Given the description of an element on the screen output the (x, y) to click on. 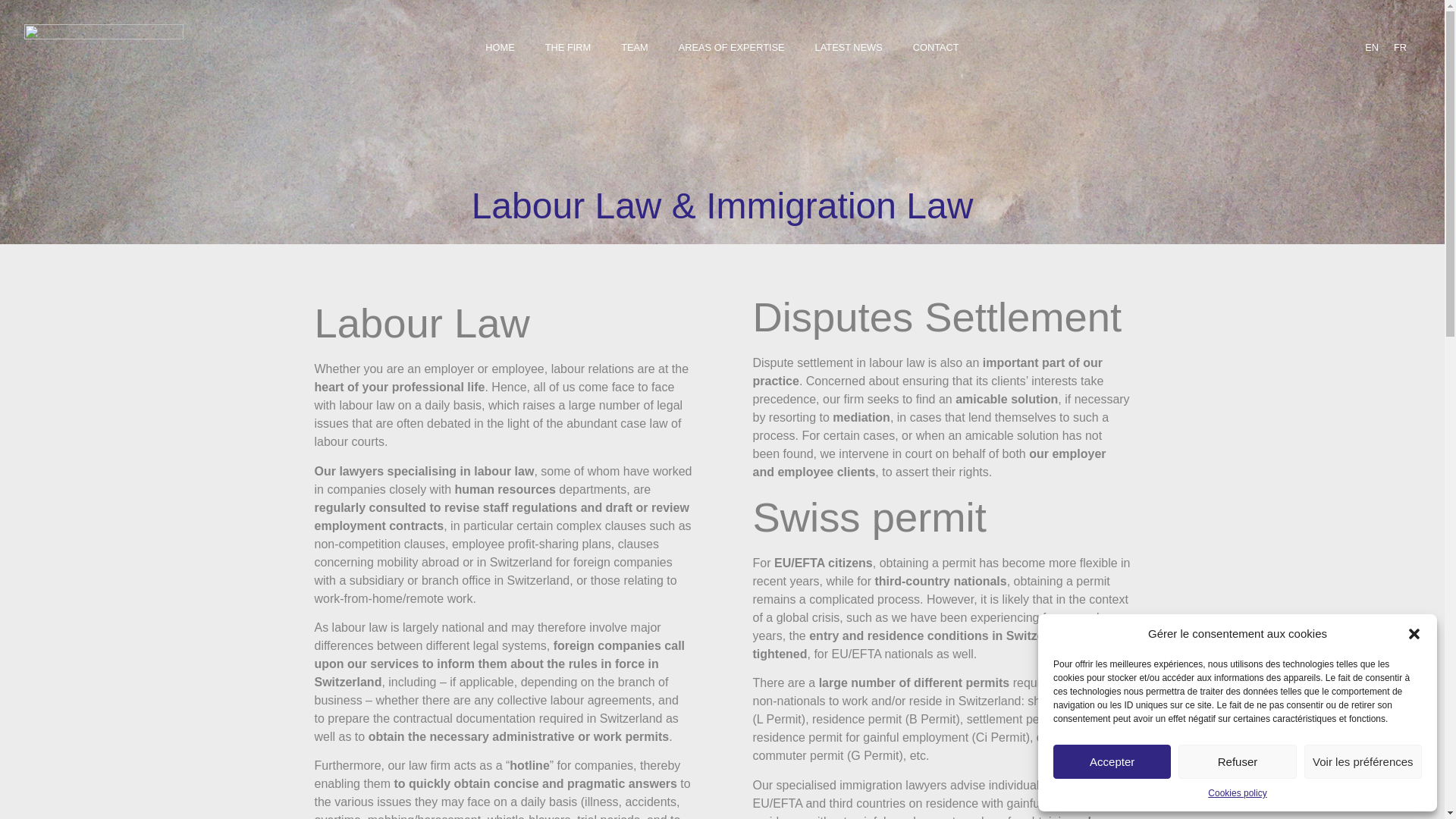
THE FIRM (567, 47)
EN (1371, 48)
AREAS OF EXPERTISE (731, 47)
FR (1399, 48)
CONTACT (936, 47)
Refuser (1236, 761)
TEAM (634, 47)
Cookies policy (1237, 793)
Accepter (1111, 761)
HOME (499, 47)
LATEST NEWS (848, 47)
